Given the description of an element on the screen output the (x, y) to click on. 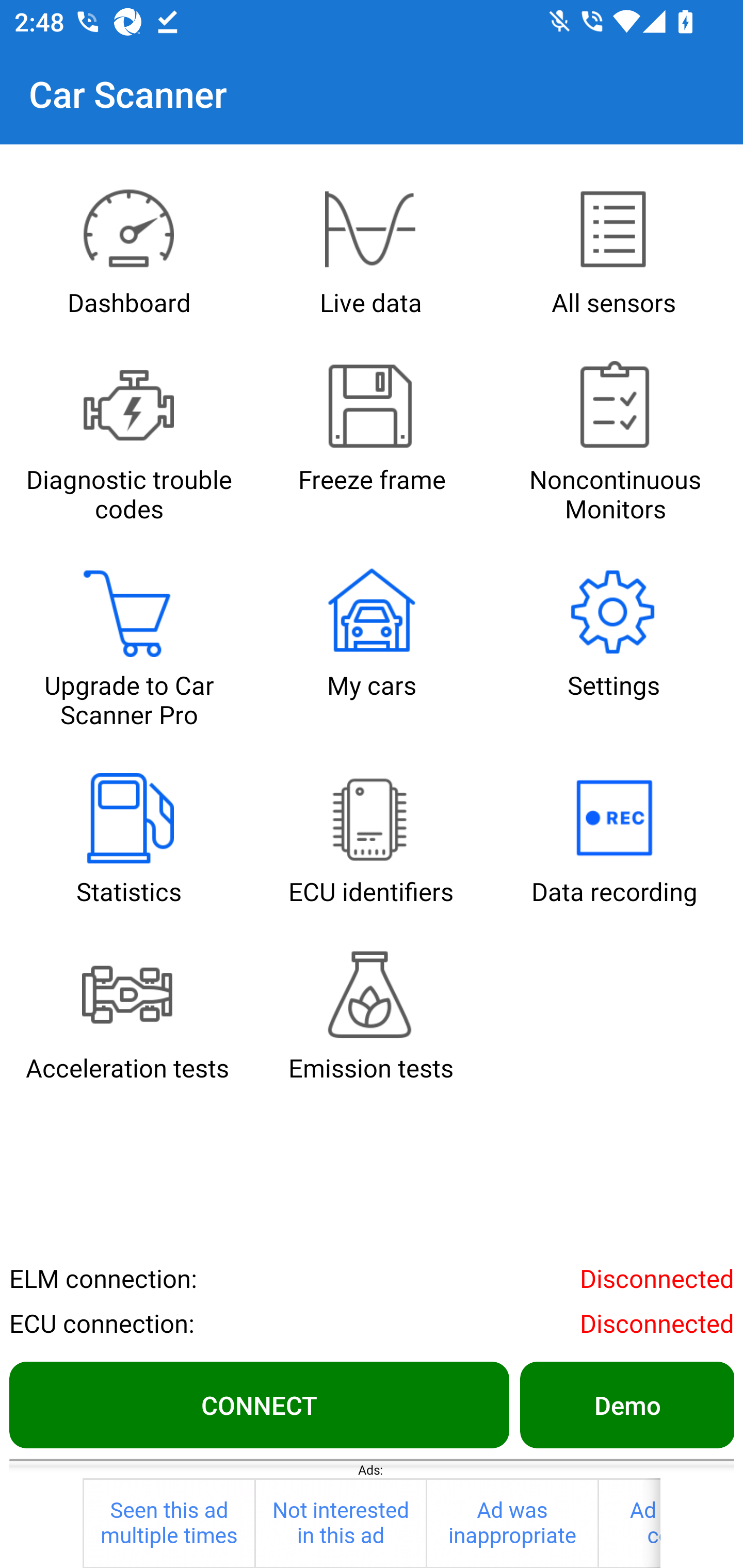
CONNECT (258, 1404)
Demo (627, 1404)
